Given the description of an element on the screen output the (x, y) to click on. 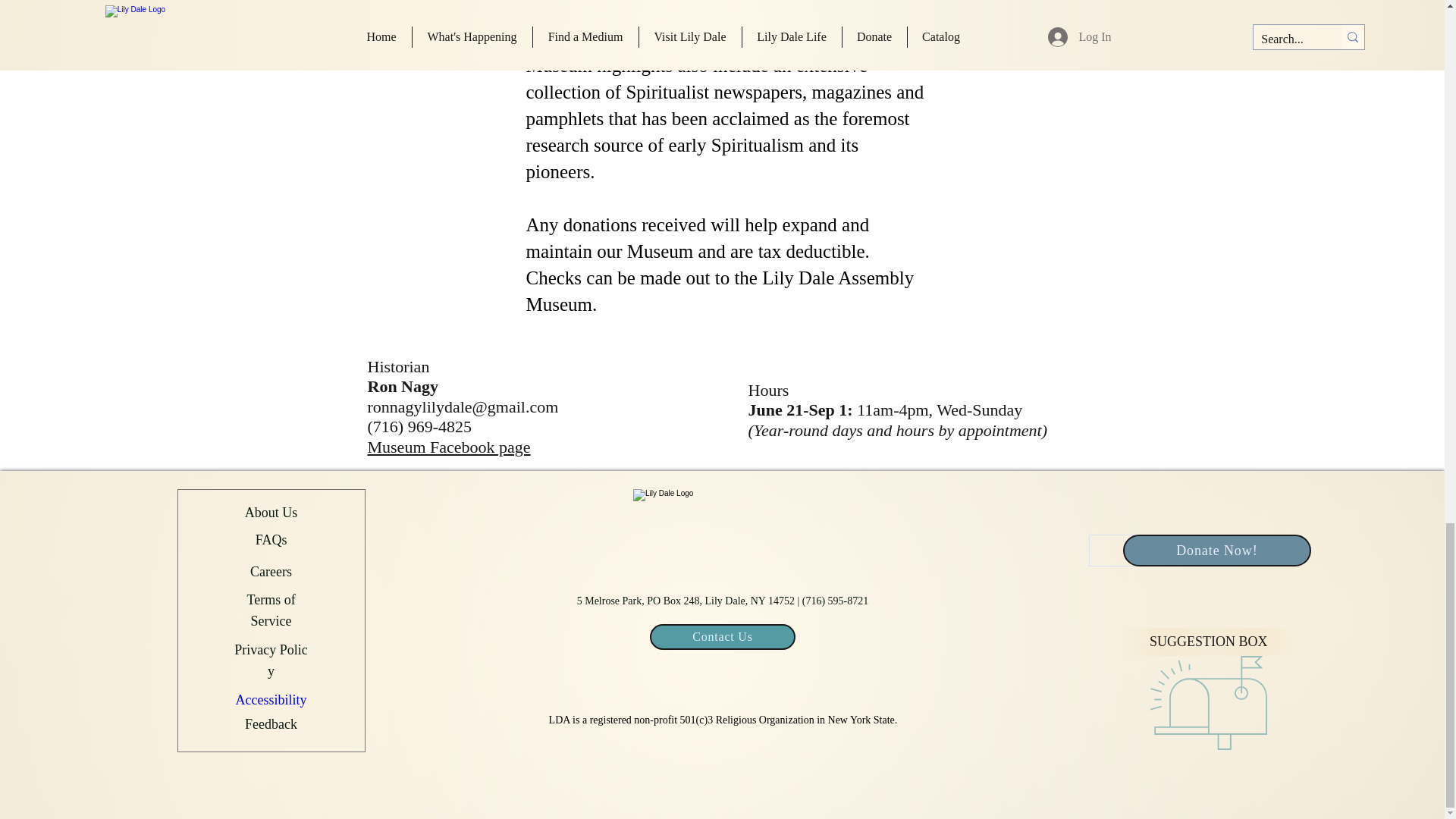
Privacy Policy (270, 658)
Contact Us (721, 637)
Careers (271, 569)
Donate Now! (1216, 550)
FAQs (271, 539)
Museum Facebook page (447, 446)
Terms of Service (270, 608)
Accessibility (271, 697)
Feedback (270, 724)
About Us (271, 512)
